Given the description of an element on the screen output the (x, y) to click on. 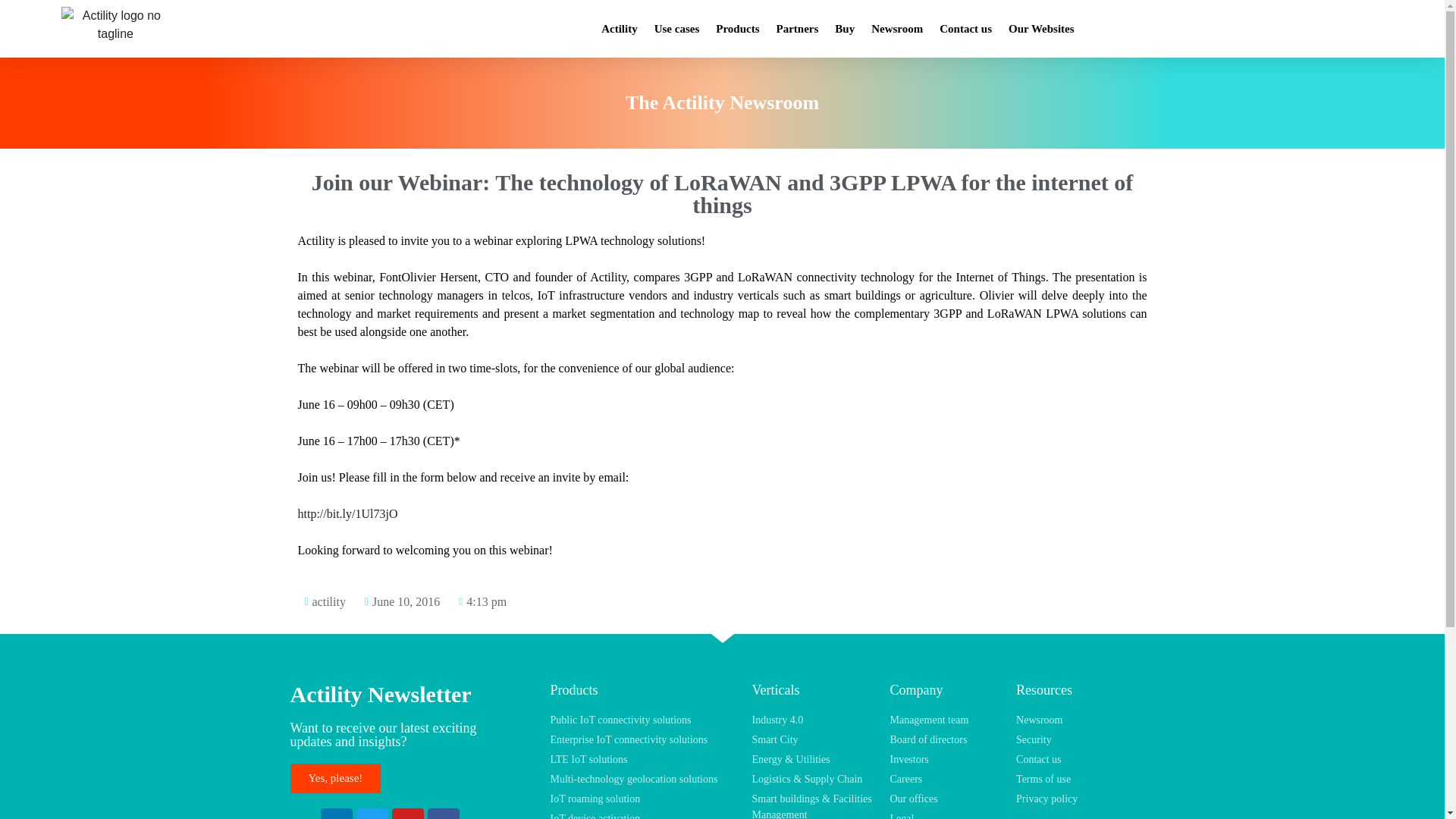
Actility (618, 28)
Buy (845, 28)
Use cases (676, 28)
Partners (797, 28)
Products (737, 28)
Newsroom (897, 28)
